Given the description of an element on the screen output the (x, y) to click on. 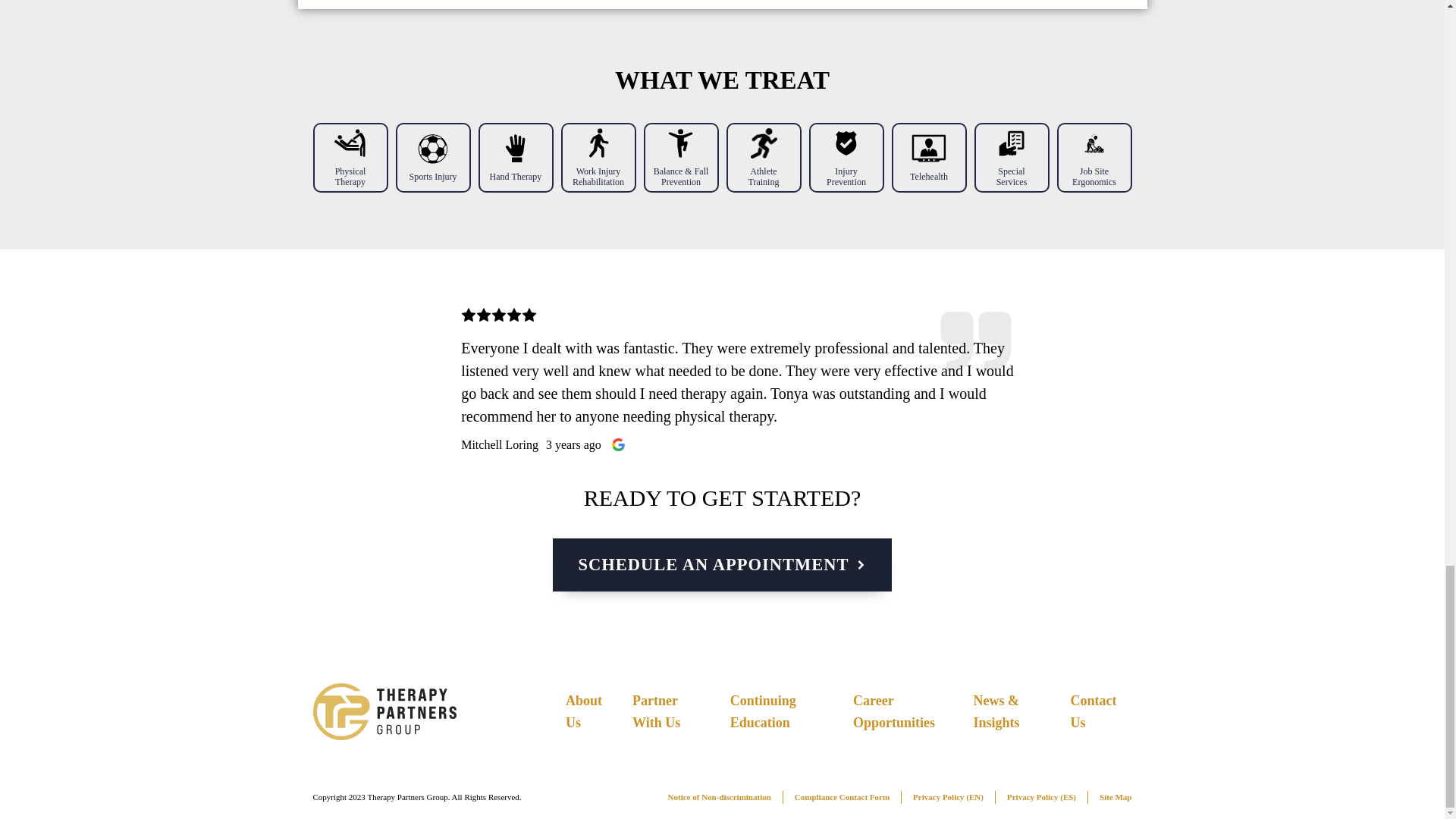
Athlete Training (763, 176)
Physical Therapy (350, 176)
Hand Therapy (515, 176)
Injury Prevention (846, 176)
Work Injury Rehabilitation (598, 176)
Sports Injury (433, 176)
Telehealth (928, 176)
